Given the description of an element on the screen output the (x, y) to click on. 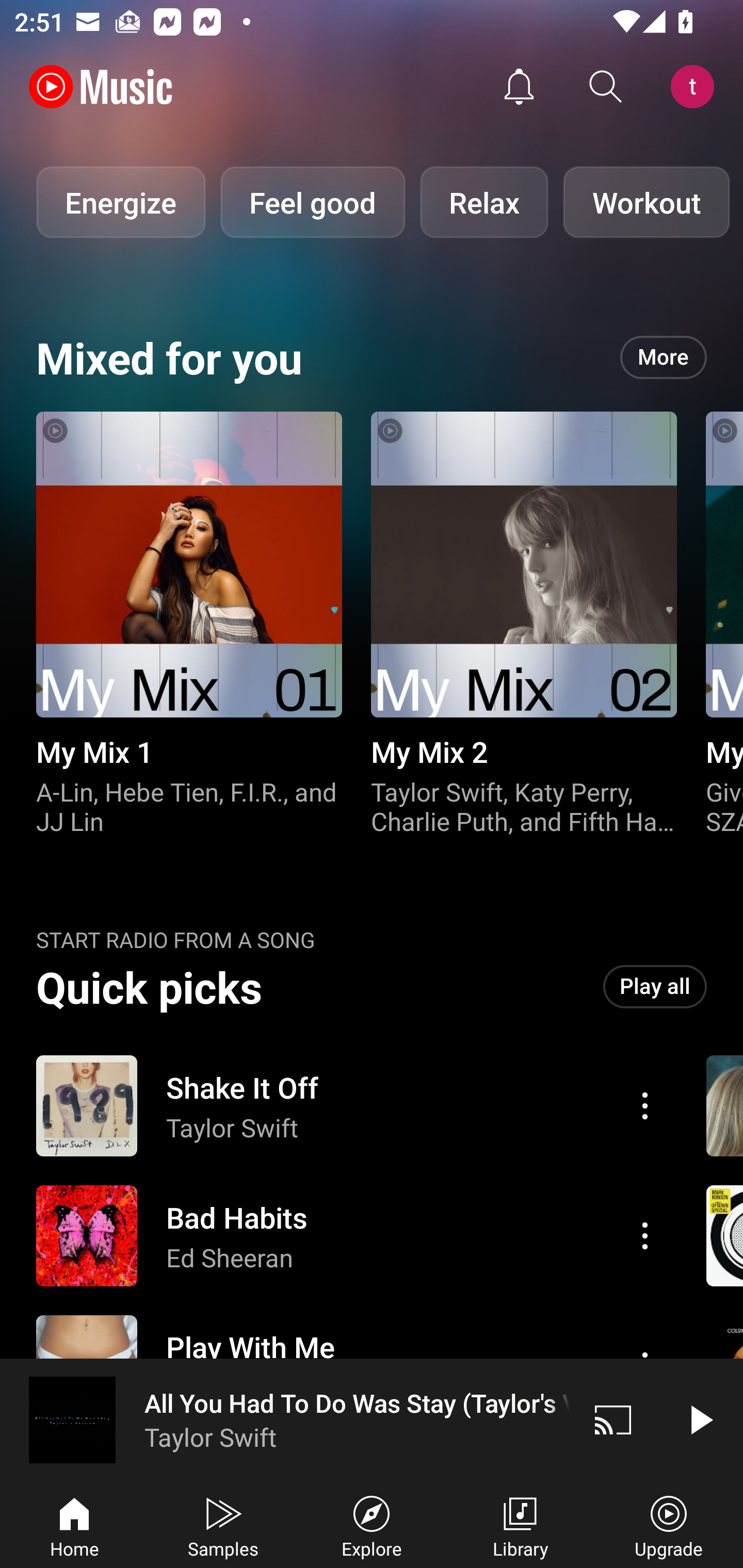
Activity feed (518, 86)
Search (605, 86)
Account (696, 86)
Action menu (349, 1106)
Action menu (644, 1106)
Action menu (349, 1236)
Action menu (644, 1235)
Cast. Disconnected (612, 1419)
Play video (699, 1419)
Home (74, 1524)
Samples (222, 1524)
Explore (371, 1524)
Library (519, 1524)
Upgrade (668, 1524)
